Given the description of an element on the screen output the (x, y) to click on. 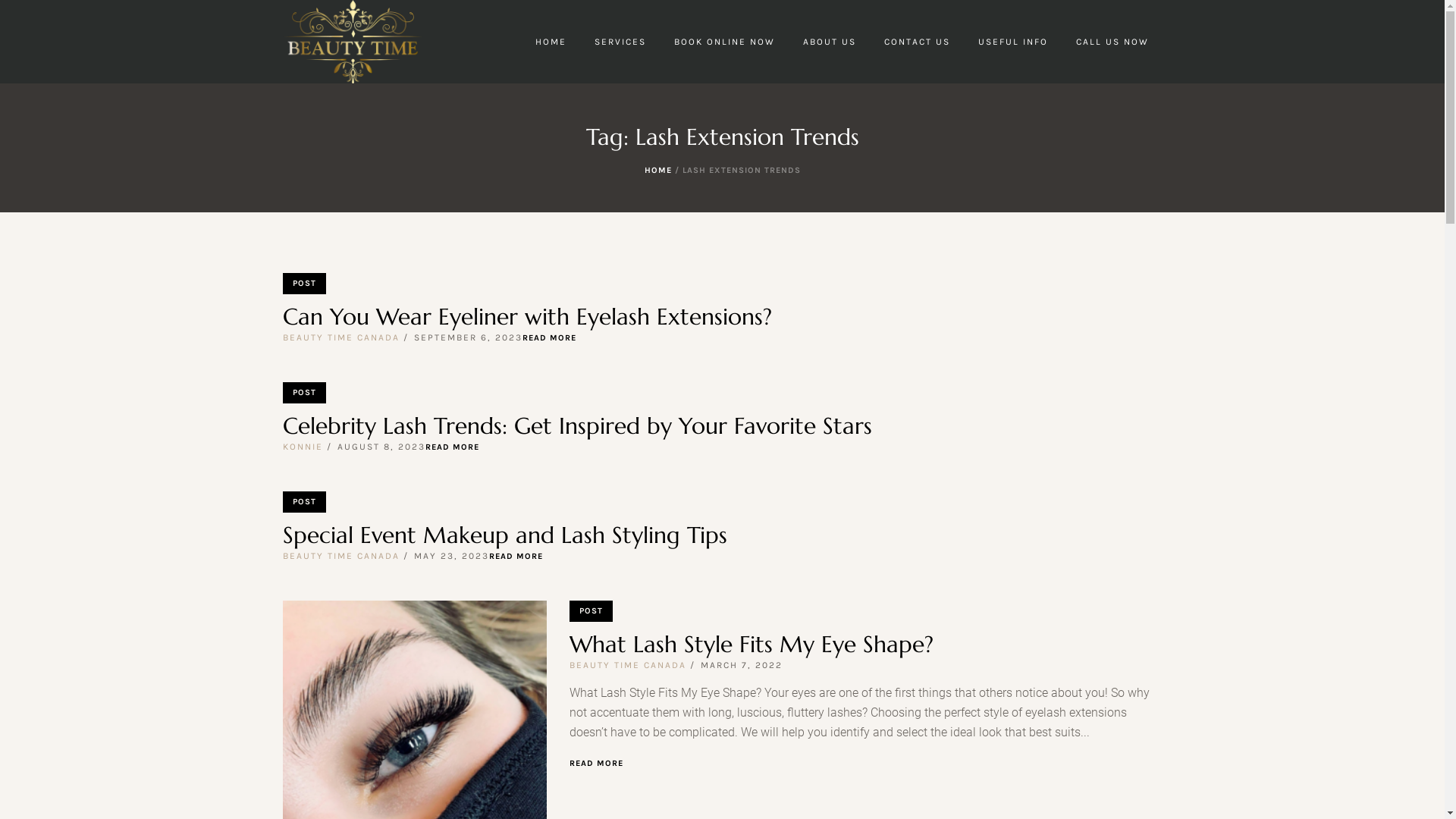
READ MORE Element type: text (595, 763)
CALL US NOW Element type: text (1111, 41)
CONTACT US Element type: text (916, 41)
READ MORE Element type: text (515, 556)
Special Event Makeup and Lash Styling Tips Element type: text (504, 534)
SERVICES Element type: text (619, 41)
BOOK ONLINE NOW Element type: text (723, 41)
READ MORE Element type: text (451, 446)
USEFUL INFO Element type: text (1012, 41)
BEAUTY TIME CANADA Element type: text (626, 664)
HOME Element type: text (657, 170)
ABOUT US Element type: text (828, 41)
BEAUTY TIME CANADA Element type: text (340, 337)
What Lash Style Fits My Eye Shape? Element type: text (750, 644)
Celebrity Lash Trends: Get Inspired by Your Favorite Stars Element type: text (576, 425)
HOME Element type: text (550, 41)
BEAUTY TIME CANADA Element type: text (340, 555)
READ MORE Element type: text (548, 337)
Can You Wear Eyeliner with Eyelash Extensions? Element type: text (526, 316)
KONNIE Element type: text (302, 446)
